Given the description of an element on the screen output the (x, y) to click on. 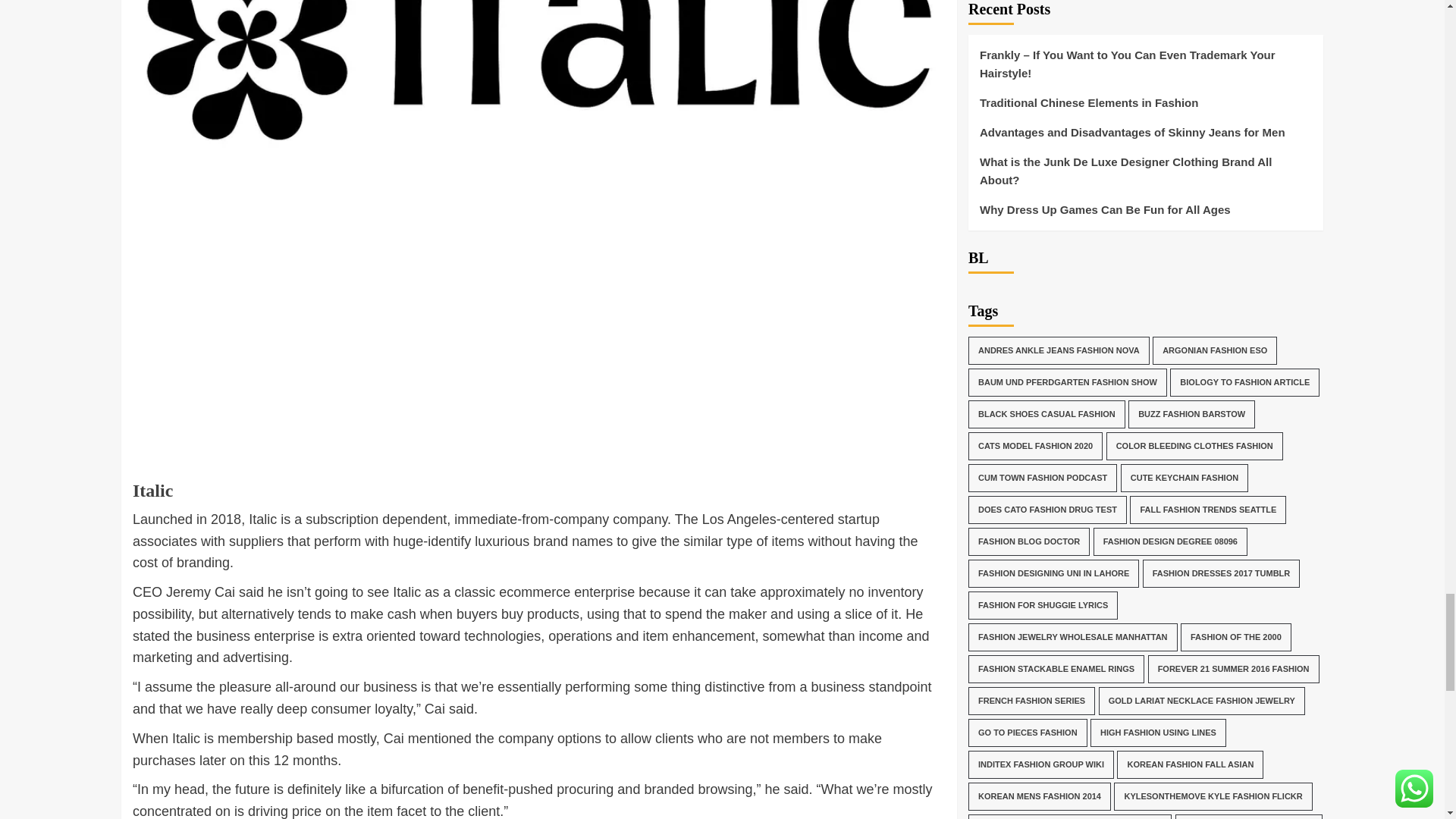
Italic (152, 500)
